Given the description of an element on the screen output the (x, y) to click on. 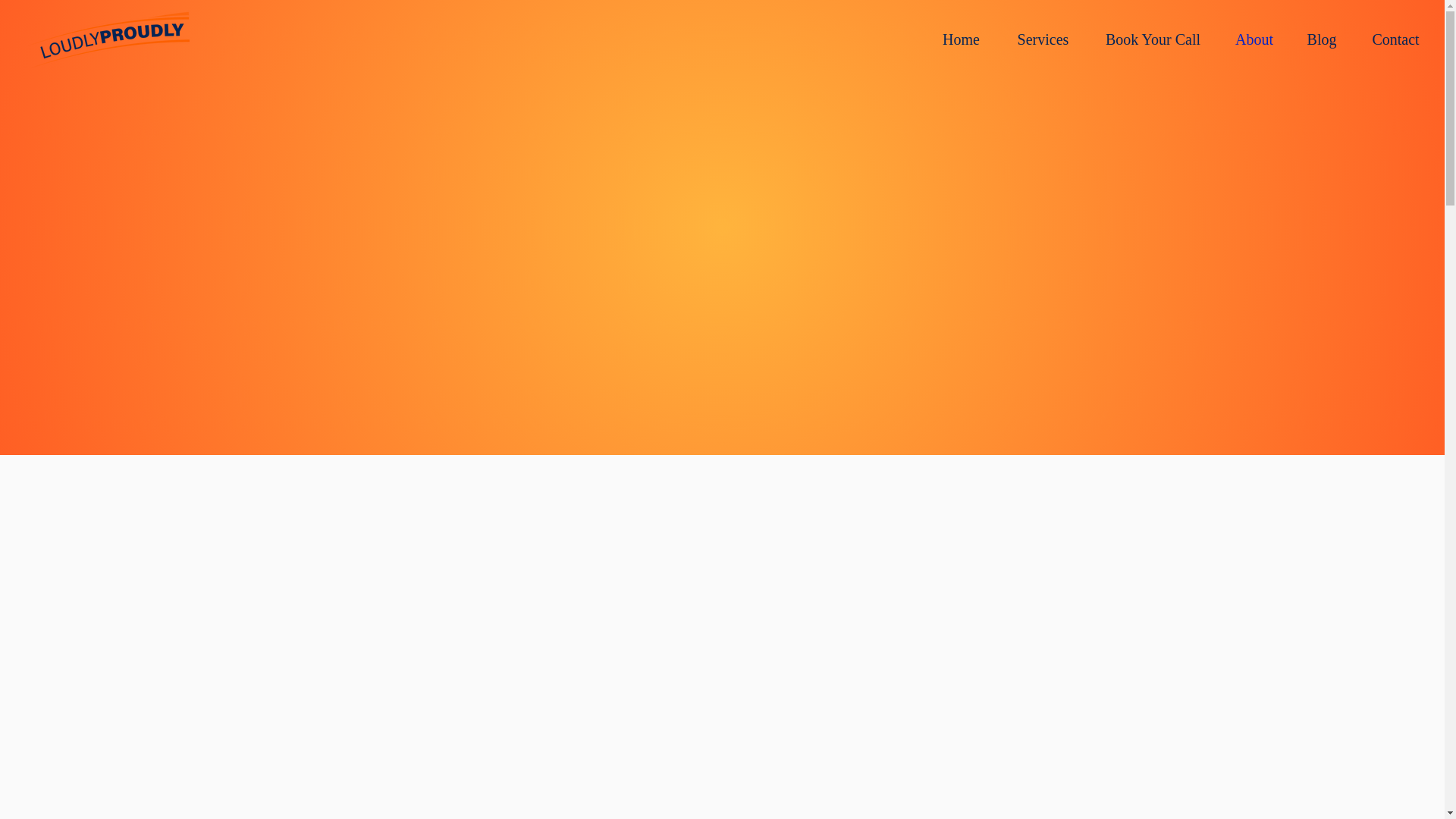
Home (960, 39)
Contact (1395, 39)
Book Your Call (1152, 39)
Blog (1321, 39)
About (1253, 39)
